Given the description of an element on the screen output the (x, y) to click on. 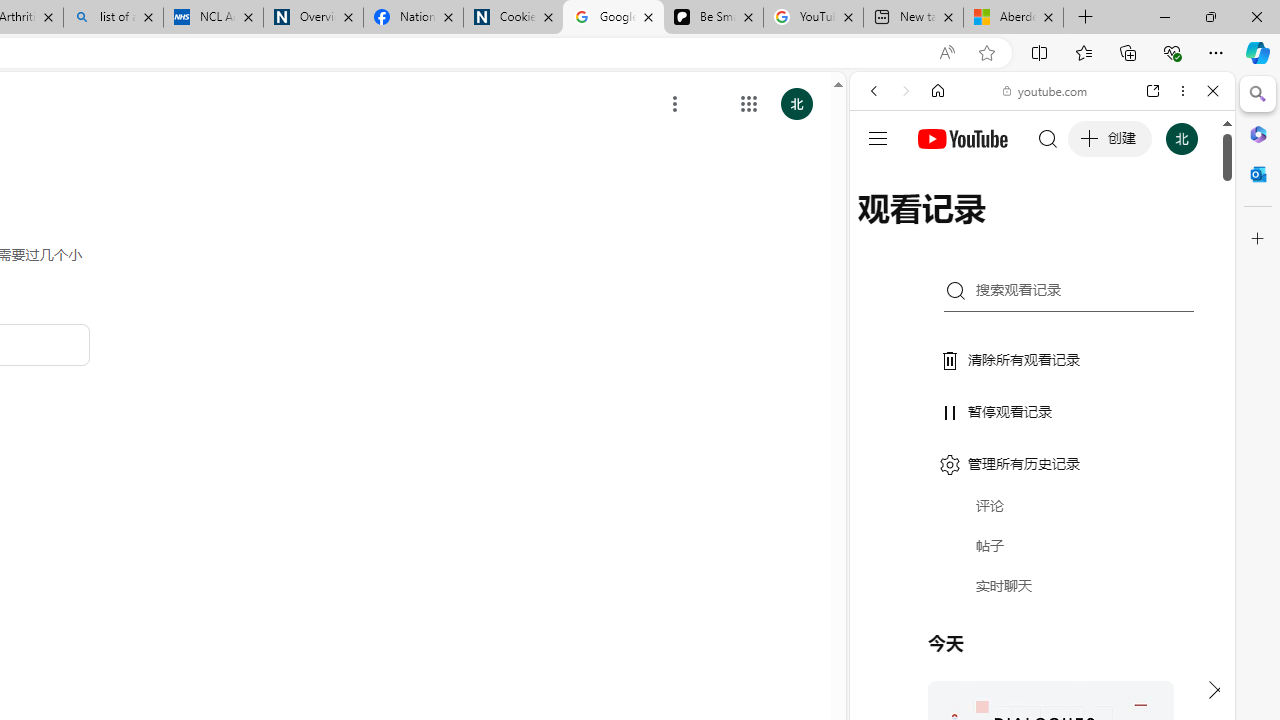
Class: Xviznc NMm5M (675, 103)
Show More Music (1164, 546)
